Given the description of an element on the screen output the (x, y) to click on. 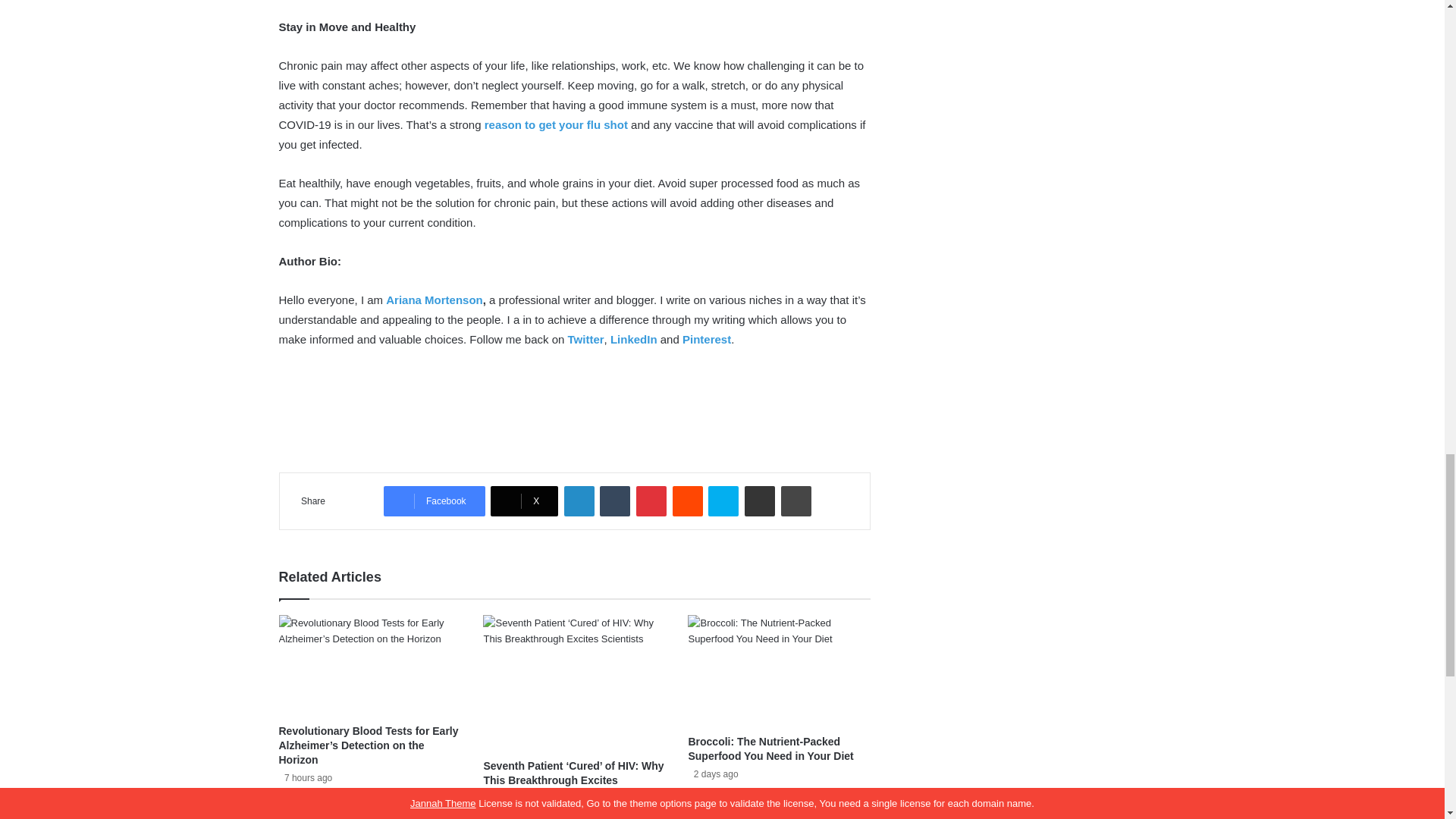
Pinterest (706, 338)
Tumblr (614, 501)
X (523, 501)
LinkedIn (634, 338)
Skype (722, 501)
Reddit (687, 501)
LinkedIn (579, 501)
Ariana Mortenson (434, 299)
Facebook (434, 501)
Pinterest (651, 501)
Twitter (585, 338)
reason to get your flu shot (555, 124)
